Given the description of an element on the screen output the (x, y) to click on. 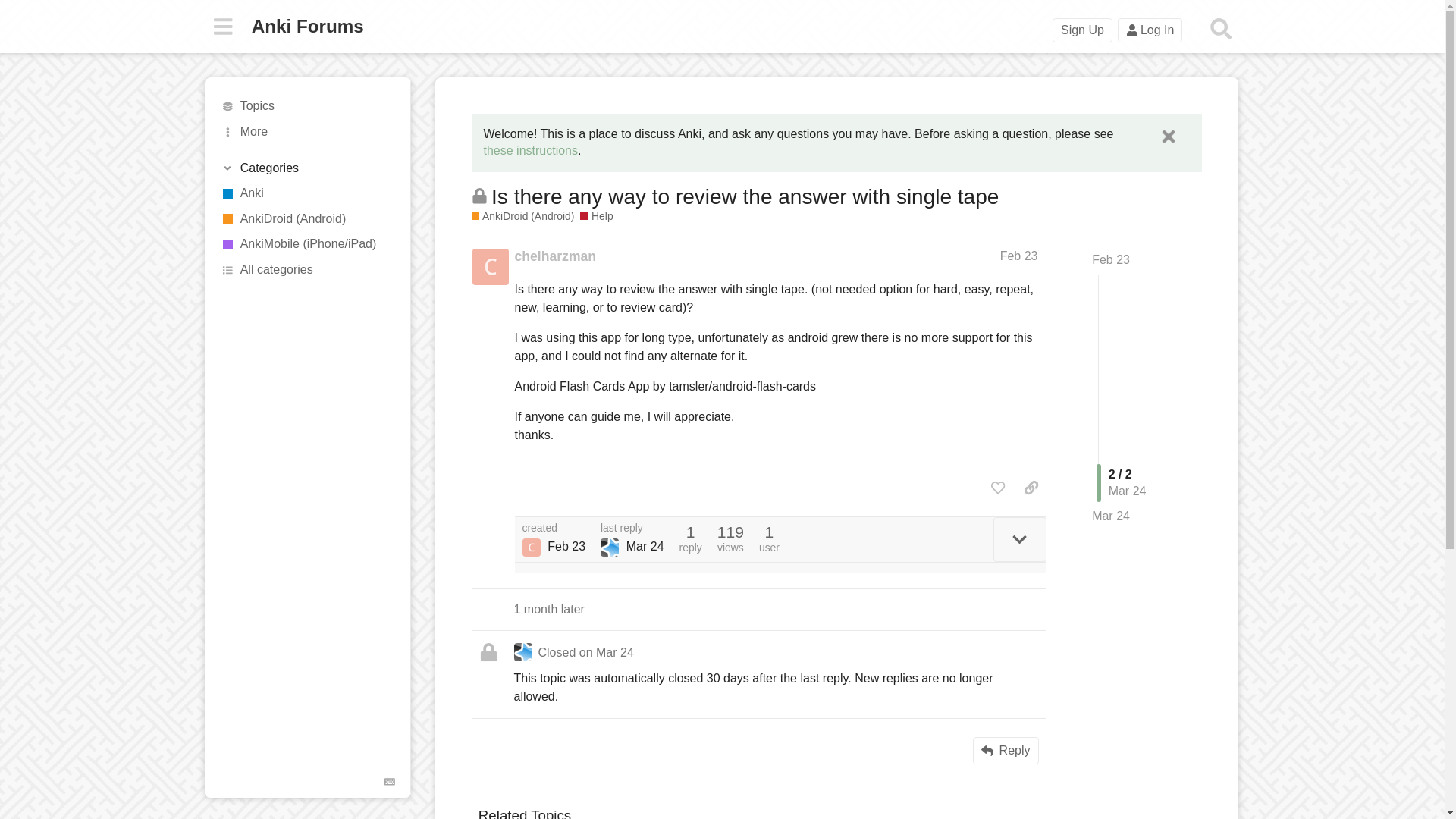
All topics (307, 106)
Help (595, 216)
like this post (997, 487)
Feb 23 (1019, 255)
More (307, 131)
Topics specific to AnkiDroid - the Android version of Anki. (523, 216)
Jump to the last post (1110, 515)
Reply (1005, 750)
Feb 23 (1110, 259)
Log In (1150, 30)
Sign Up (1082, 30)
chelharzman (554, 256)
Keyboard Shortcuts (390, 782)
Toggle section (306, 167)
